Given the description of an element on the screen output the (x, y) to click on. 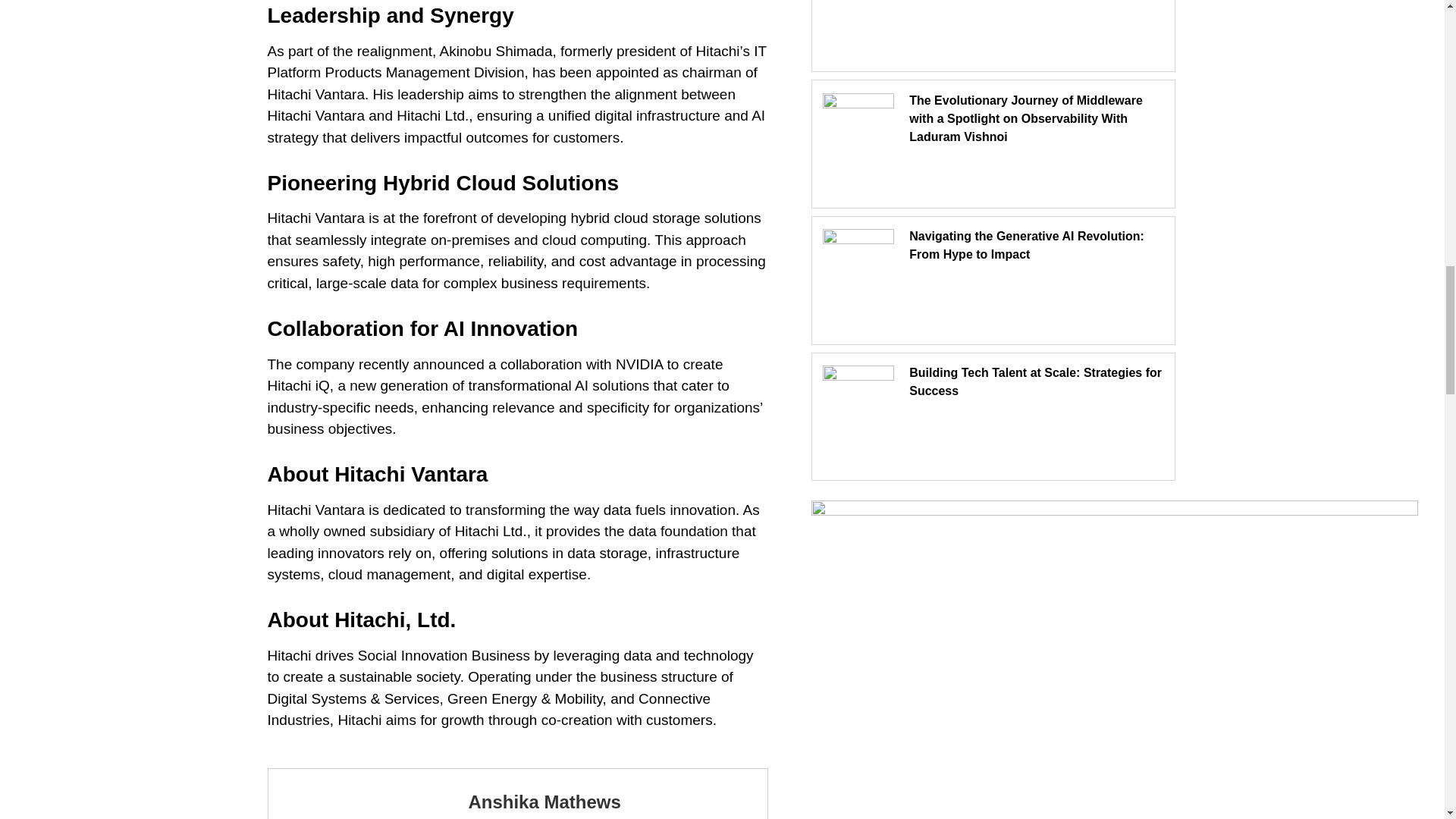
Navigating the Generative AI Revolution: From Hype to Impact (1026, 245)
Building Tech Talent at Scale: Strategies for Success (1034, 381)
